Given the description of an element on the screen output the (x, y) to click on. 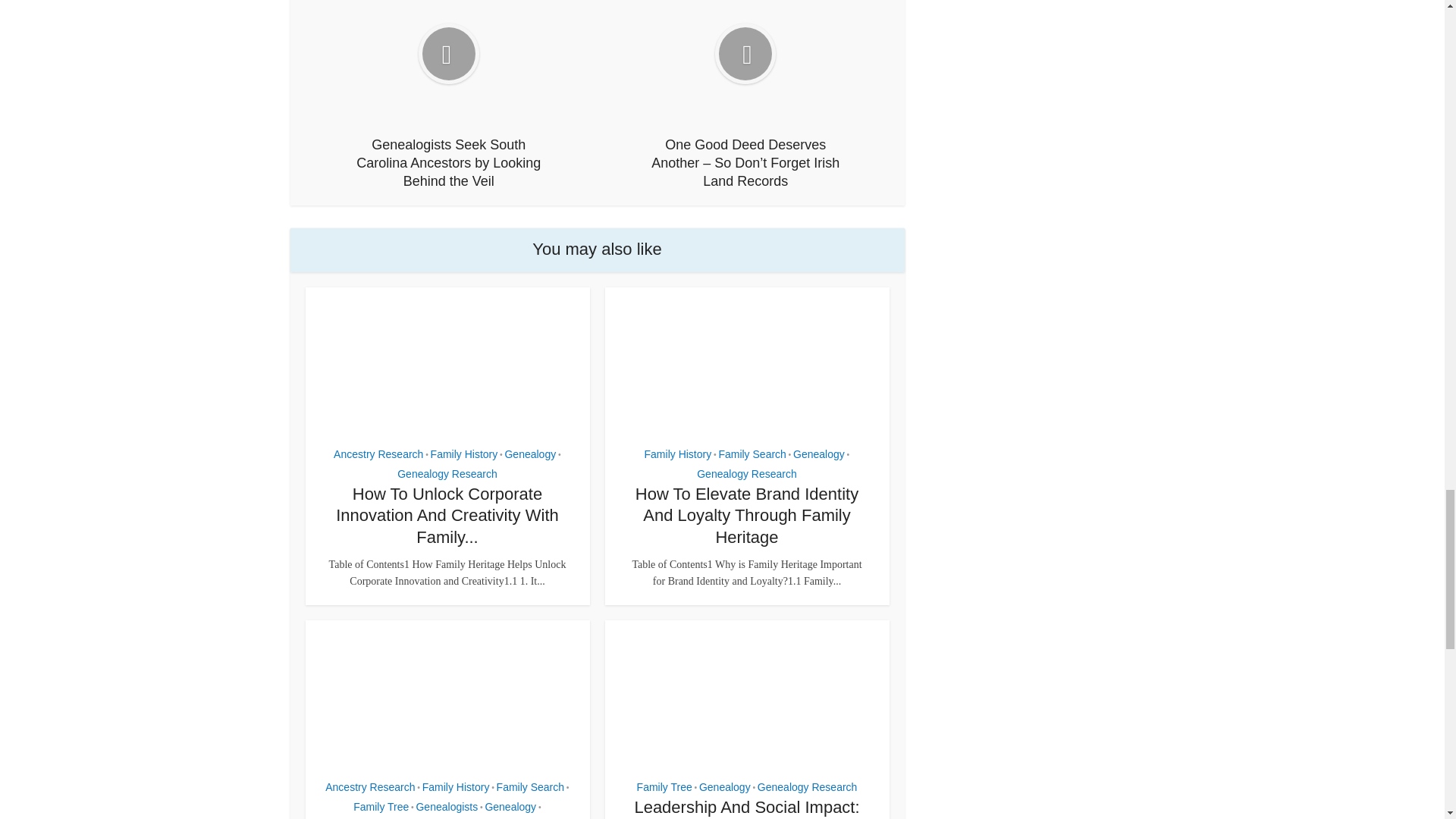
Family History (463, 454)
Family History (678, 454)
Leadership And Social Impact: How To Be A CEO Who Cares (746, 808)
Ancestry Research (378, 454)
Genealogy Research (447, 474)
Genealogy (529, 454)
